Given the description of an element on the screen output the (x, y) to click on. 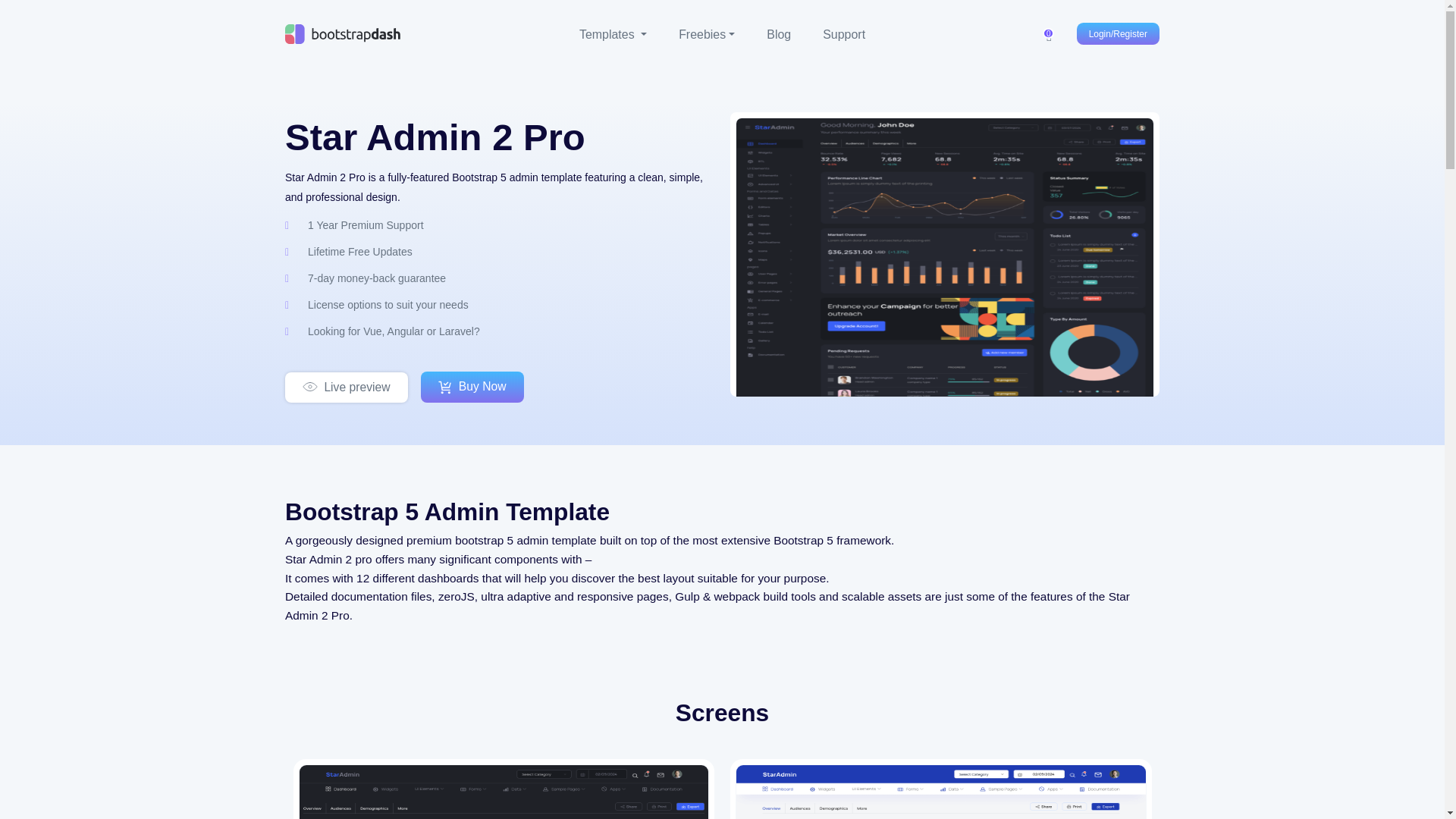
Templates (612, 34)
0 (1048, 34)
Blog (778, 34)
Freebies (706, 34)
Support (843, 34)
Star-Admin2 (944, 259)
